Given the description of an element on the screen output the (x, y) to click on. 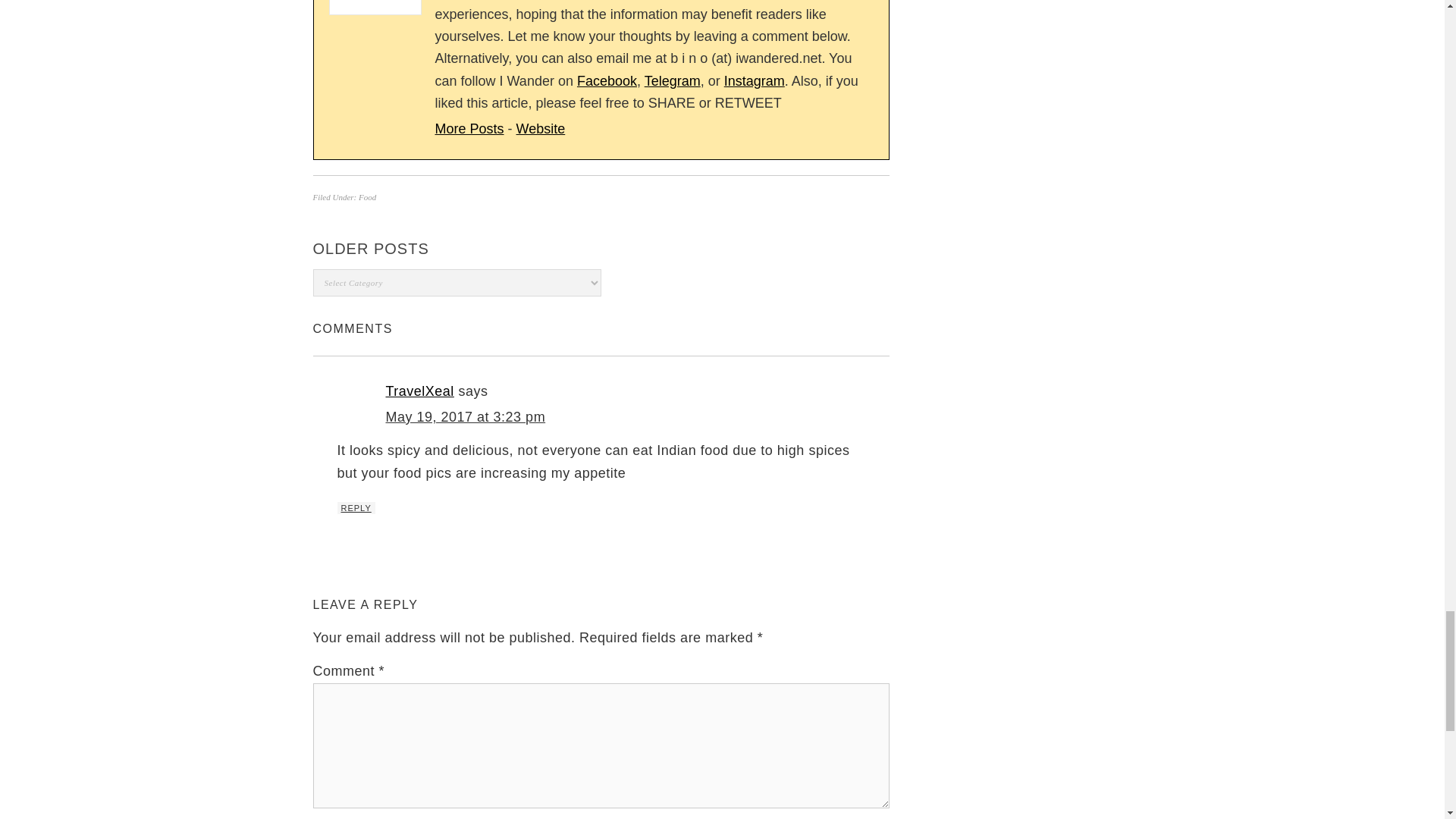
Bino (541, 128)
More posts by Bino (469, 128)
